Given the description of an element on the screen output the (x, y) to click on. 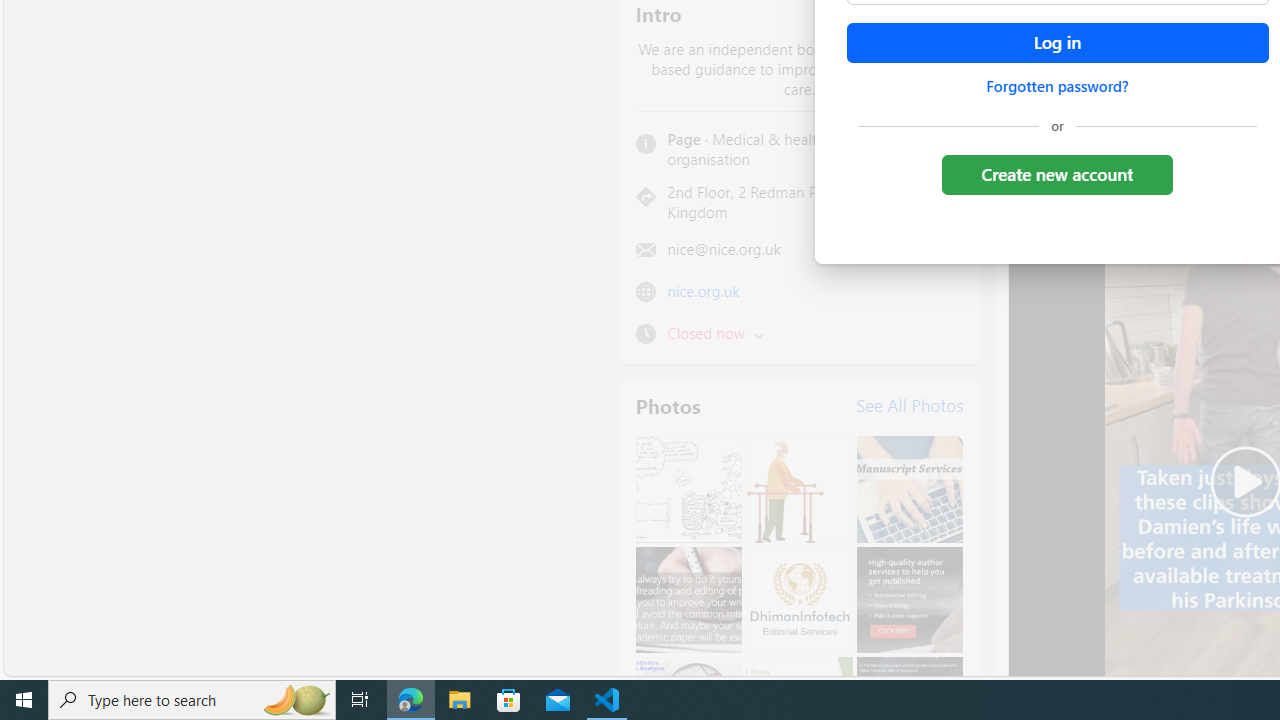
Accessible login button (1057, 43)
Create new account (1056, 174)
Forgotten password? (1057, 85)
